Given the description of an element on the screen output the (x, y) to click on. 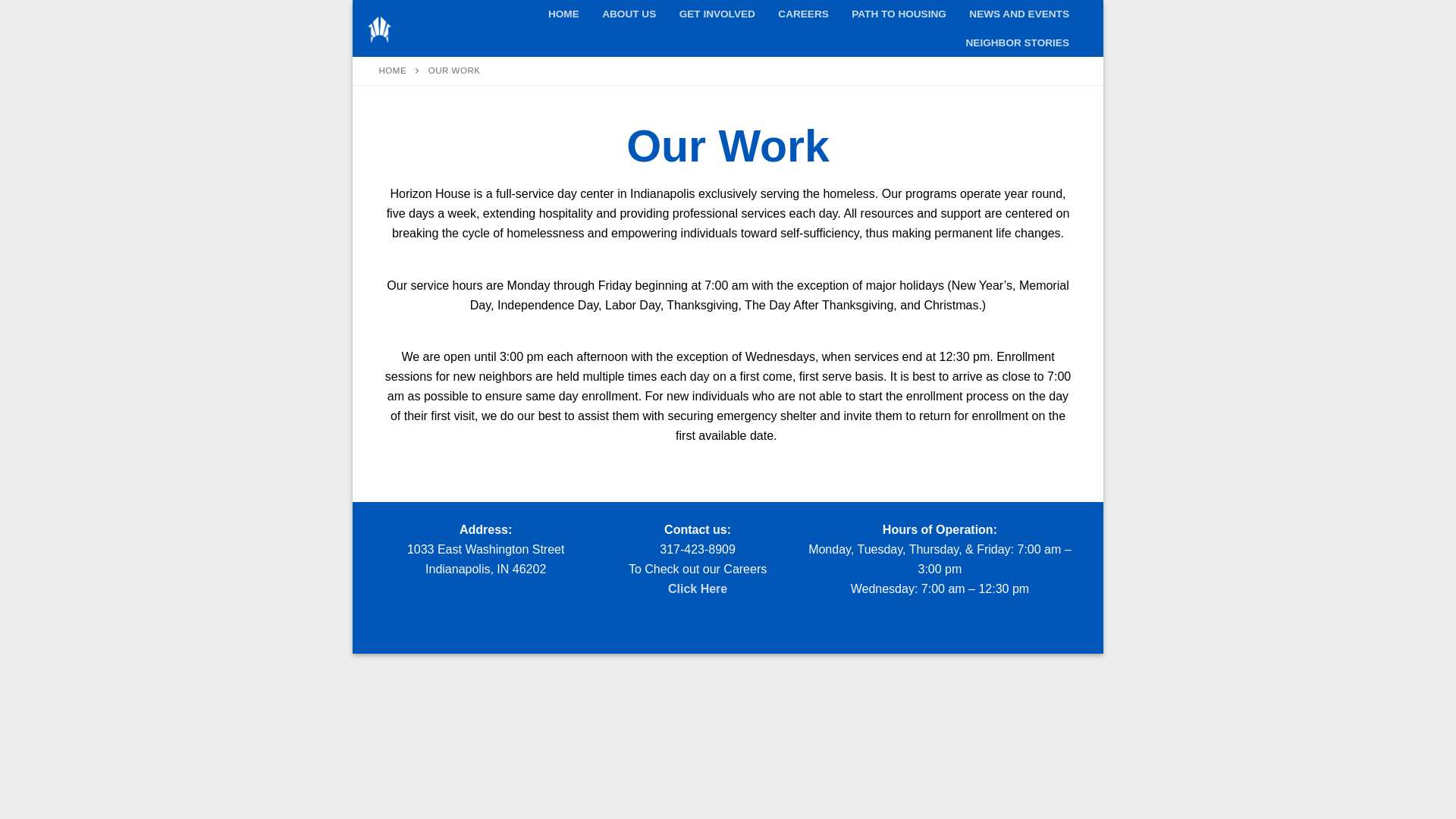
Click Here Element type: text (697, 588)
PATH TO HOUSING Element type: text (898, 14)
NEIGHBOR STORIES Element type: text (1017, 42)
GET INVOLVED Element type: text (717, 14)
CAREERS Element type: text (802, 14)
ABOUT US Element type: text (628, 14)
HOME Element type: text (563, 14)
HOME Element type: text (393, 70)
NEWS AND EVENTS Element type: text (1019, 14)
